Given the description of an element on the screen output the (x, y) to click on. 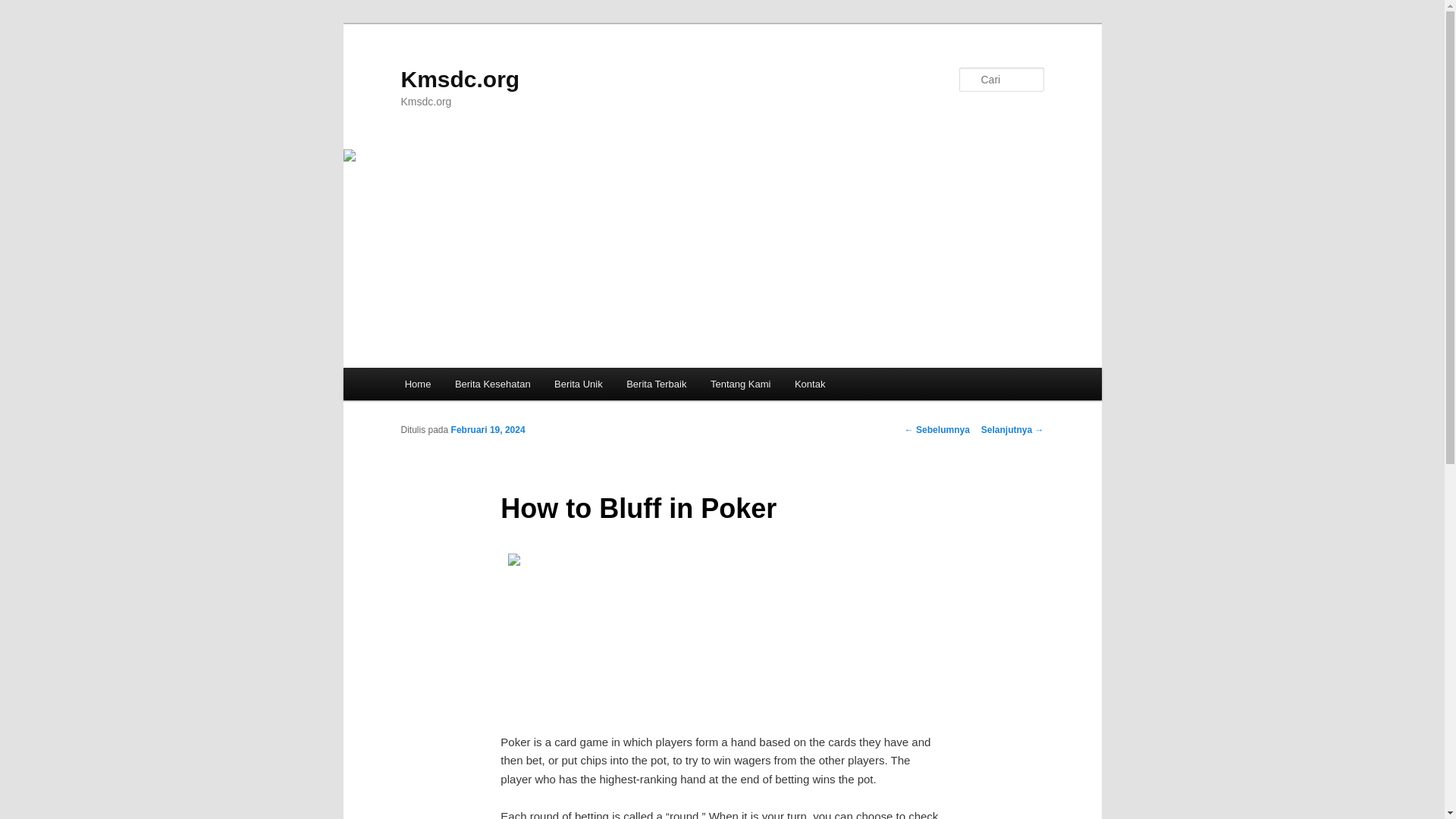
Home (417, 383)
Tentang Kami (740, 383)
Kmsdc.org (459, 78)
Berita Kesehatan (491, 383)
Berita Unik (577, 383)
Kontak (810, 383)
Cari (16, 8)
Berita Terbaik (656, 383)
Februari 19, 2024 (488, 429)
